Given the description of an element on the screen output the (x, y) to click on. 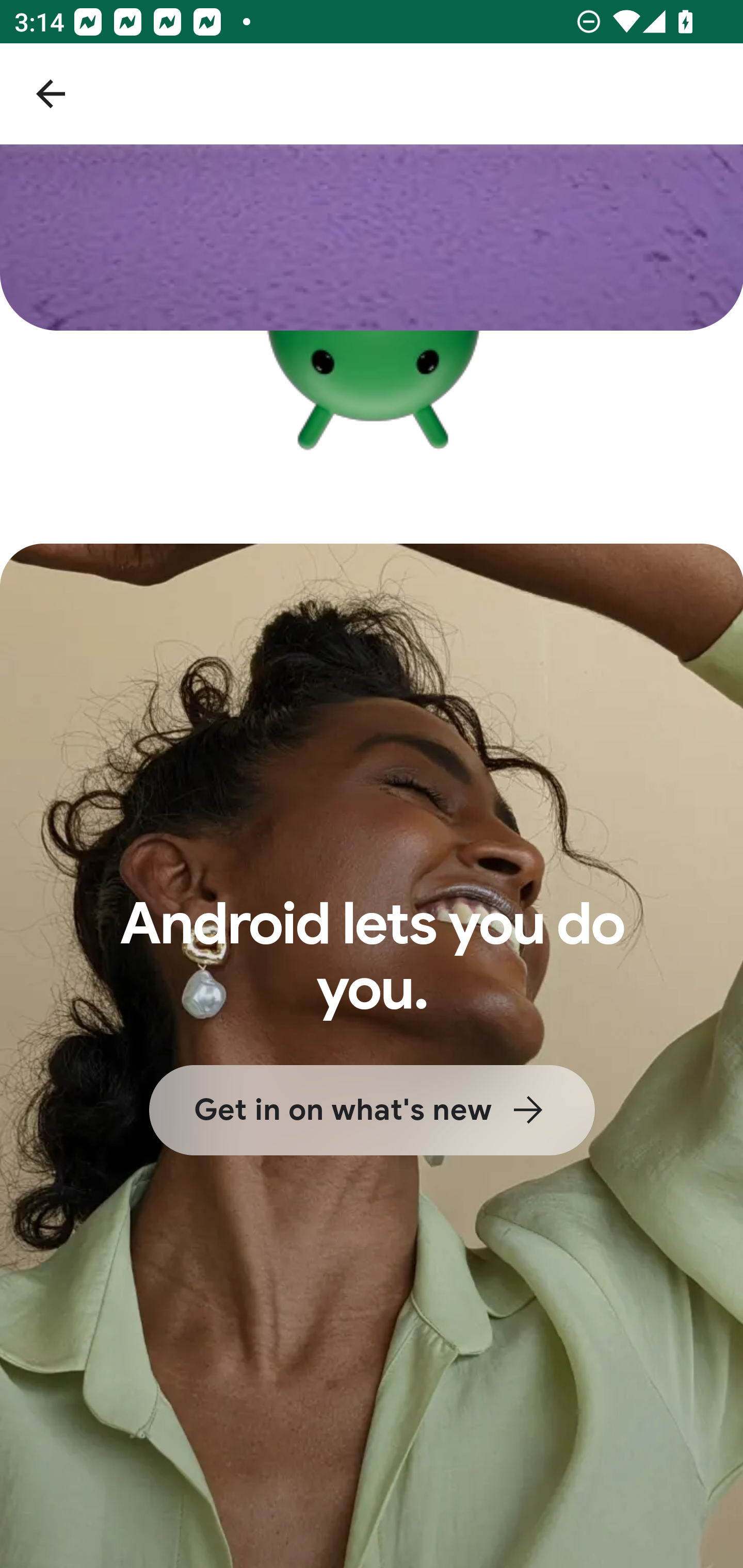
Navigate up (50, 93)
